Given the description of an element on the screen output the (x, y) to click on. 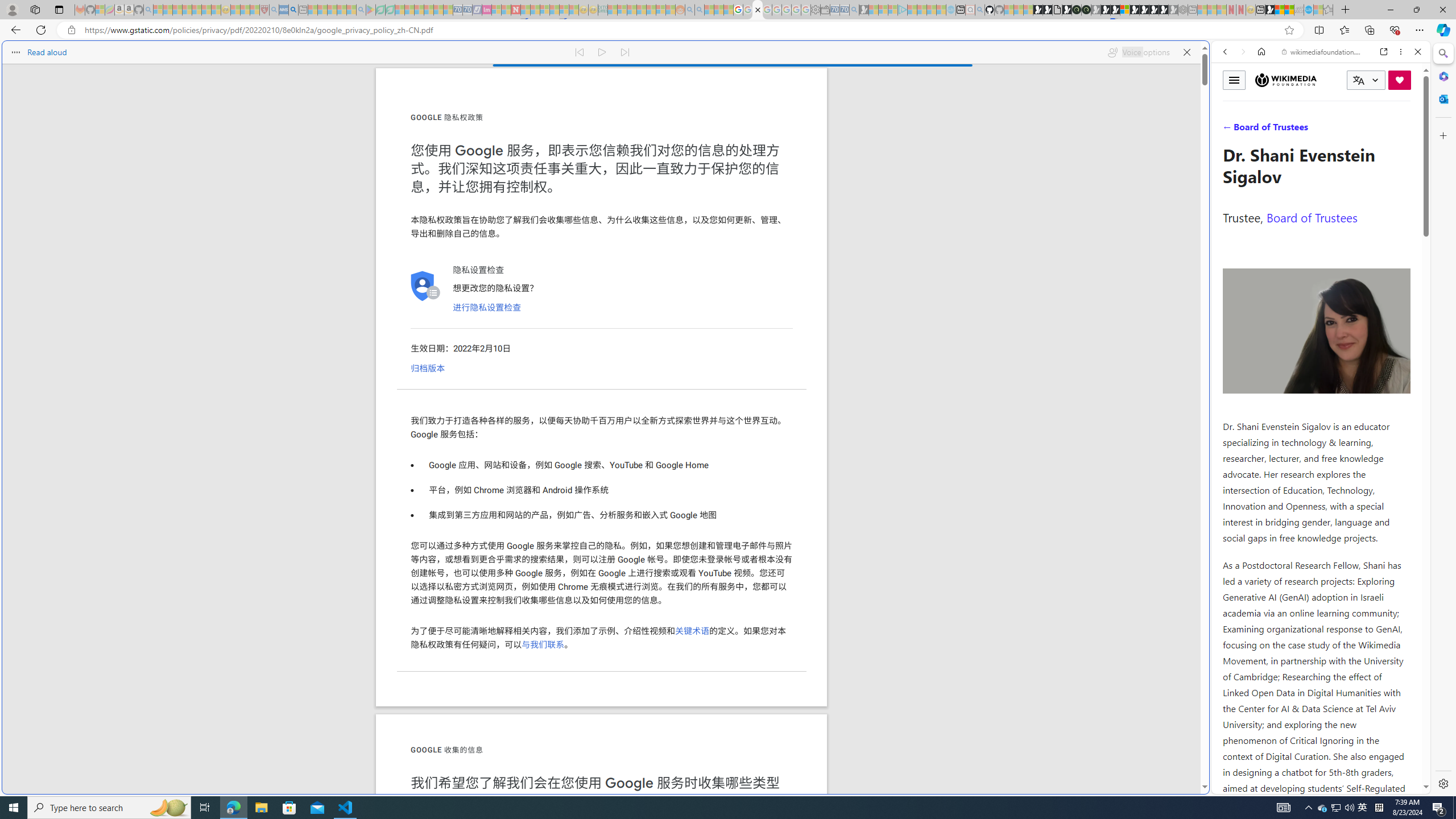
Read next paragraph (624, 52)
